Given the description of an element on the screen output the (x, y) to click on. 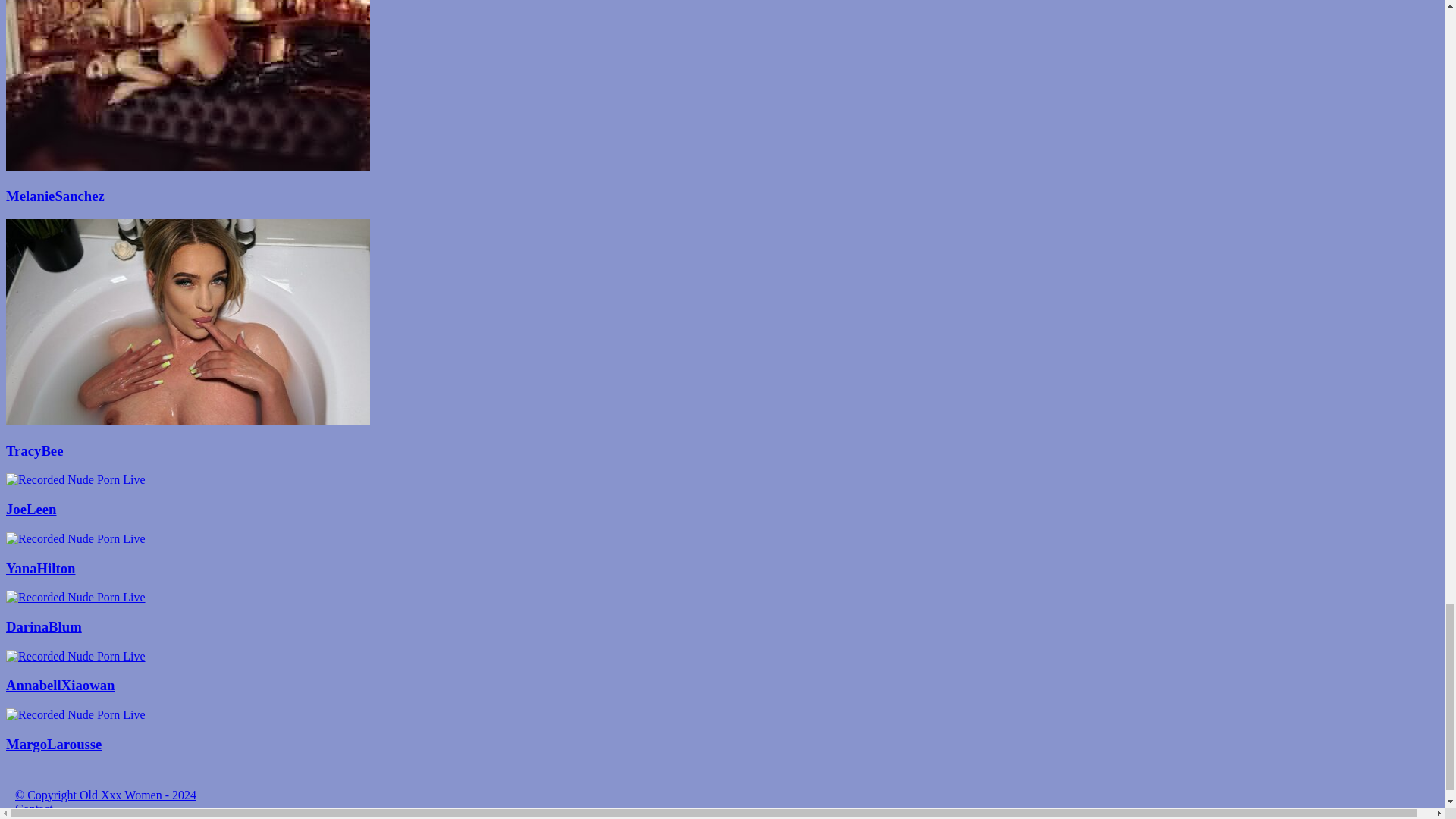
MelanieSanchez (721, 196)
TracyBee (721, 451)
